Given the description of an element on the screen output the (x, y) to click on. 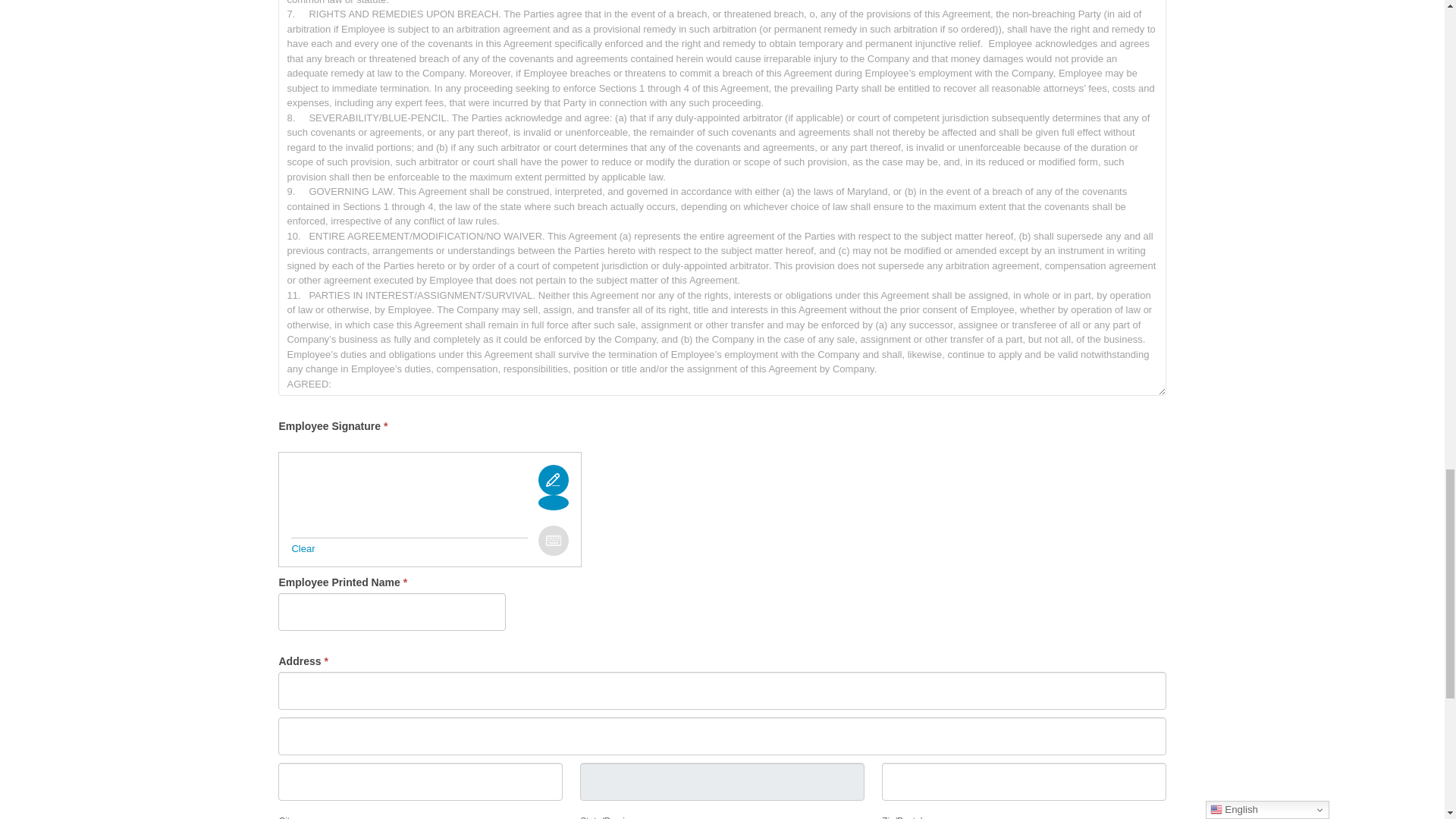
Type It (553, 540)
Clear (302, 548)
Draw It (553, 480)
Draw It (553, 502)
